Given the description of an element on the screen output the (x, y) to click on. 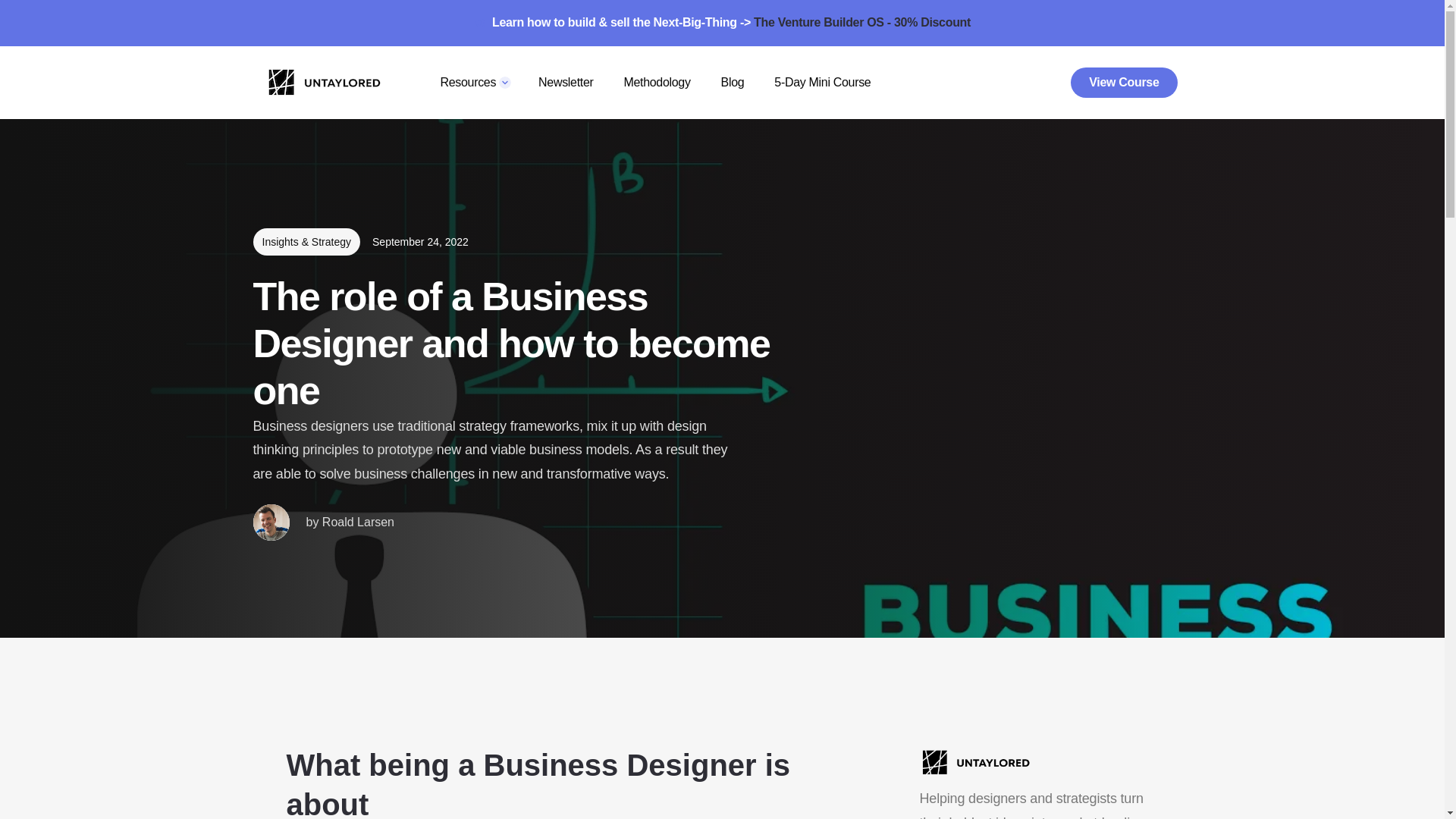
View Course (1123, 82)
Blog (733, 82)
Methodology (656, 82)
Newsletter (565, 82)
5-Day Mini Course (821, 82)
